Given the description of an element on the screen output the (x, y) to click on. 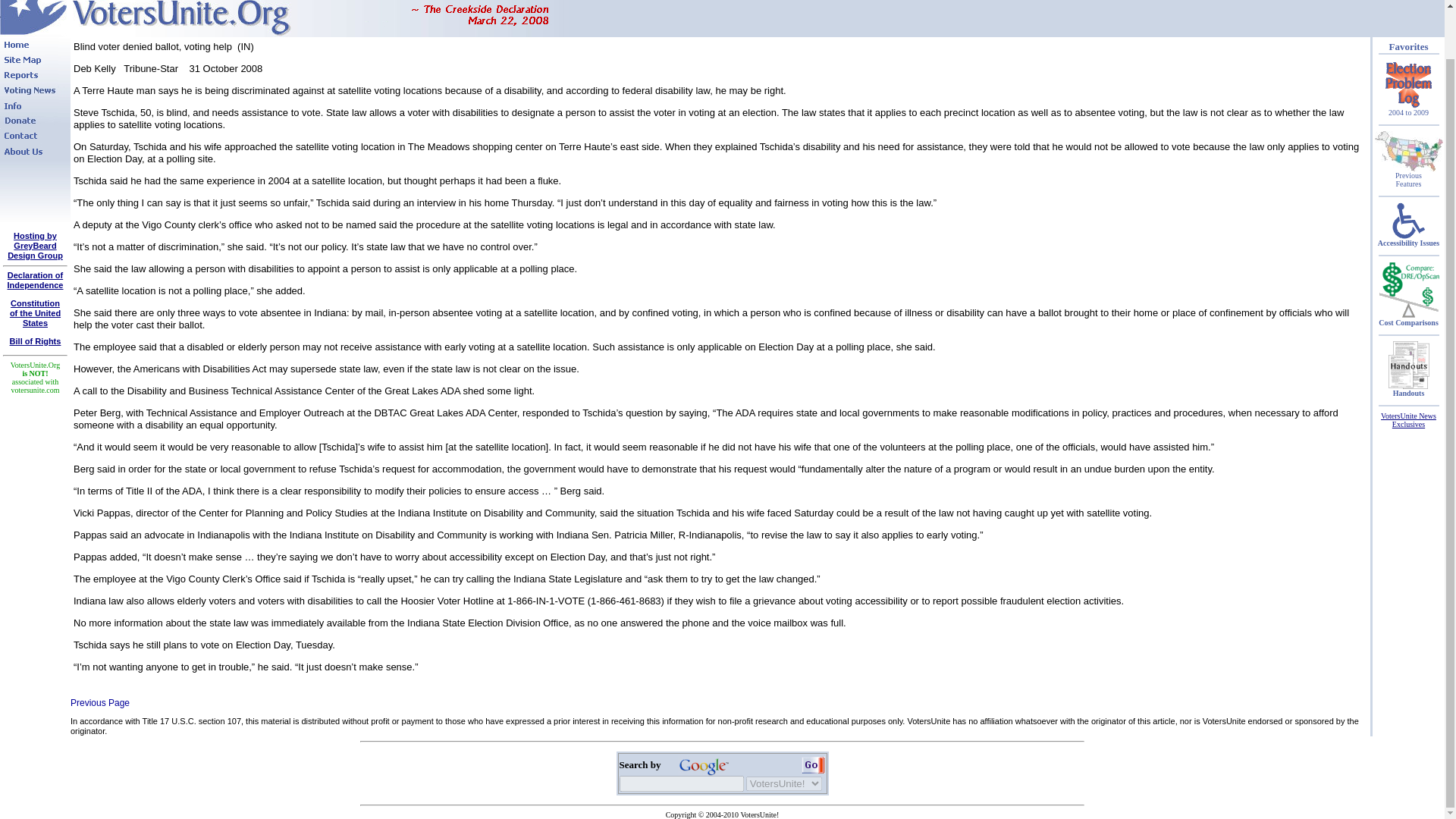
Powered by Google (703, 764)
Previous Page (34, 245)
Google Search (99, 702)
Bill of Rights (812, 764)
Declaration of Independence (35, 340)
VotersUnite News Exclusives (35, 312)
